Given the description of an element on the screen output the (x, y) to click on. 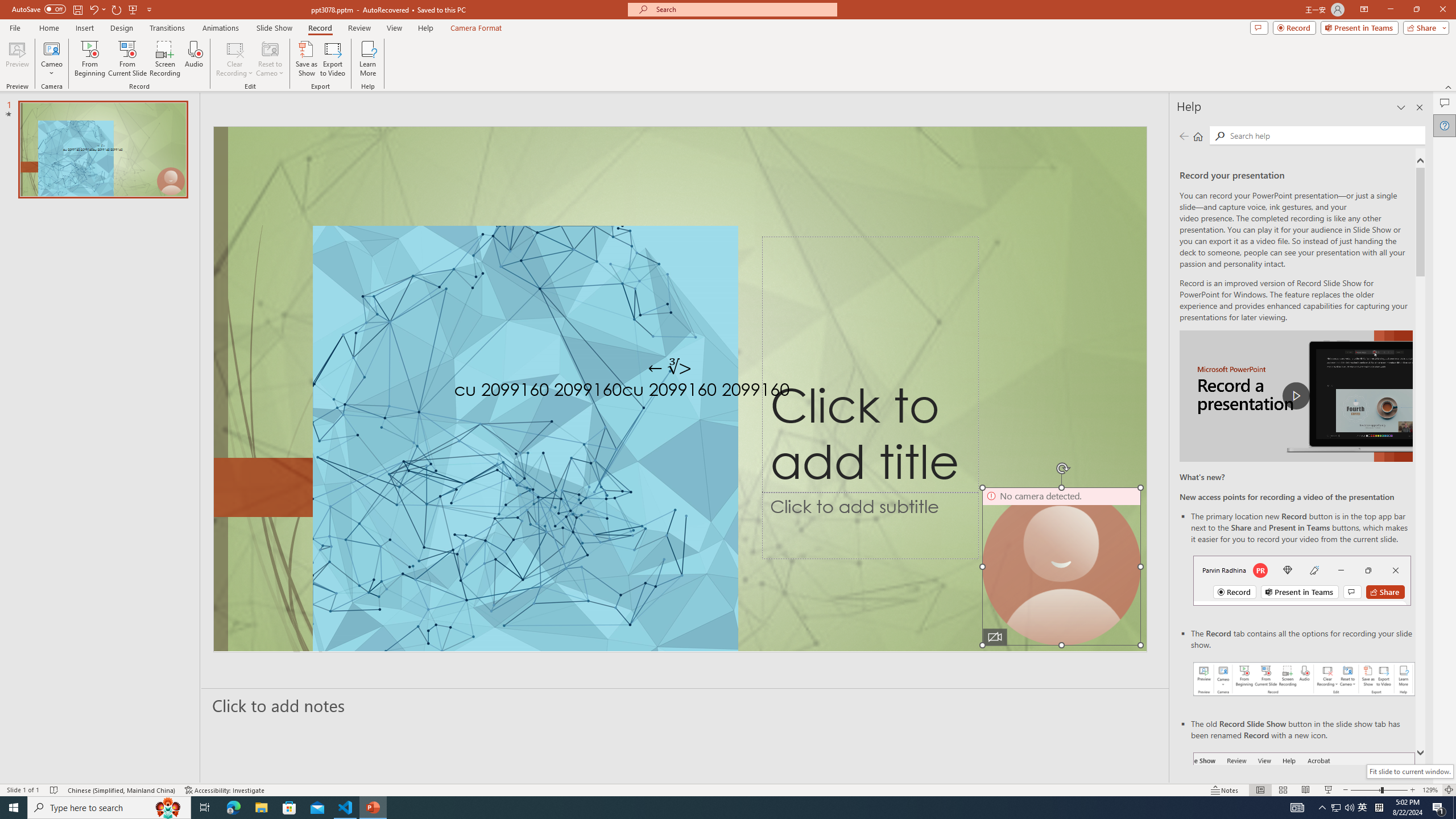
TextBox 61 (678, 391)
